Given the description of an element on the screen output the (x, y) to click on. 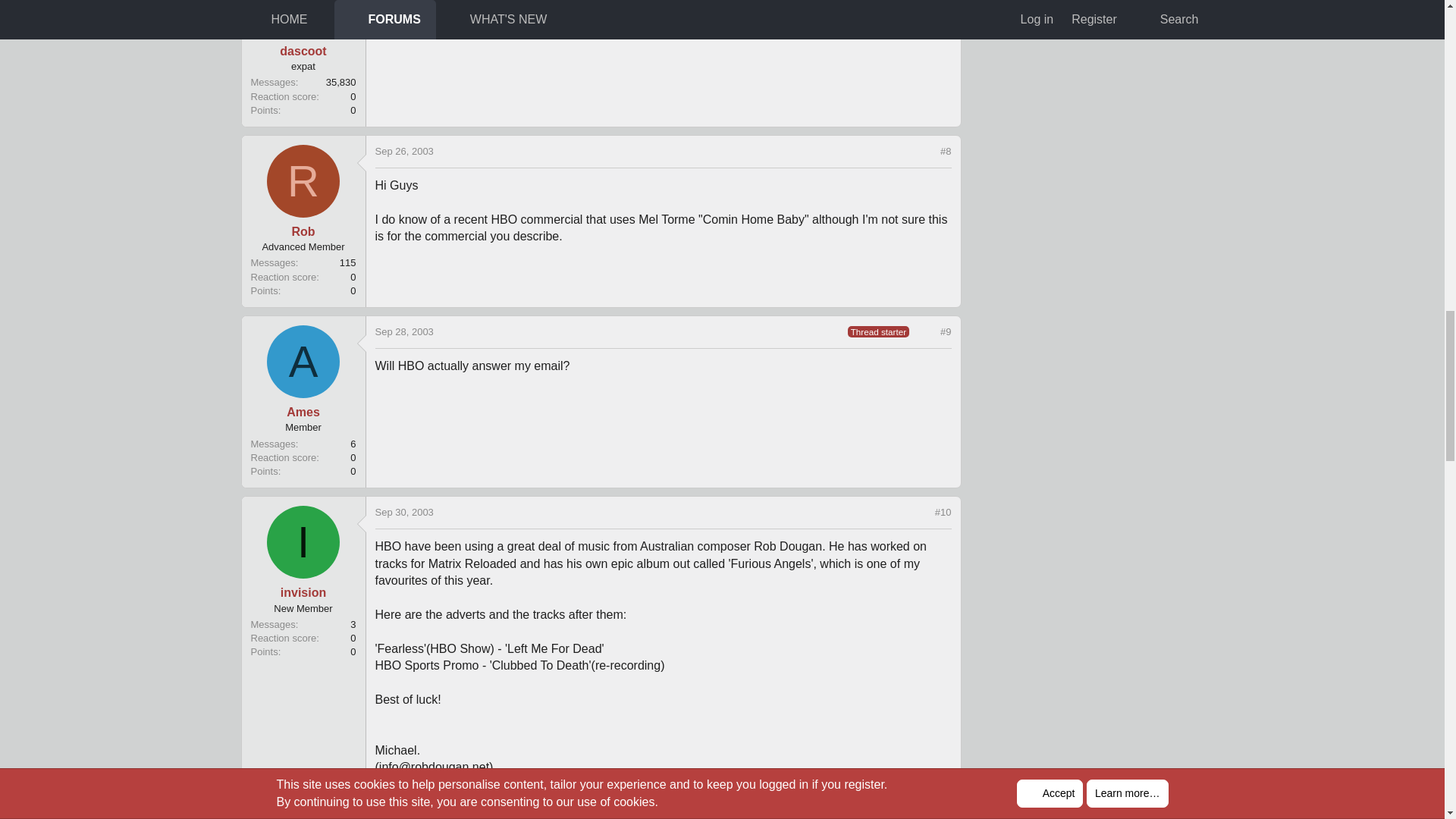
Sep 28, 2003 at 8:57 PM (403, 331)
Sep 26, 2003 at 7:25 AM (403, 151)
Oct 1, 2003 at 5:00 PM (399, 809)
Sep 30, 2003 at 5:38 AM (403, 511)
